Given the description of an element on the screen output the (x, y) to click on. 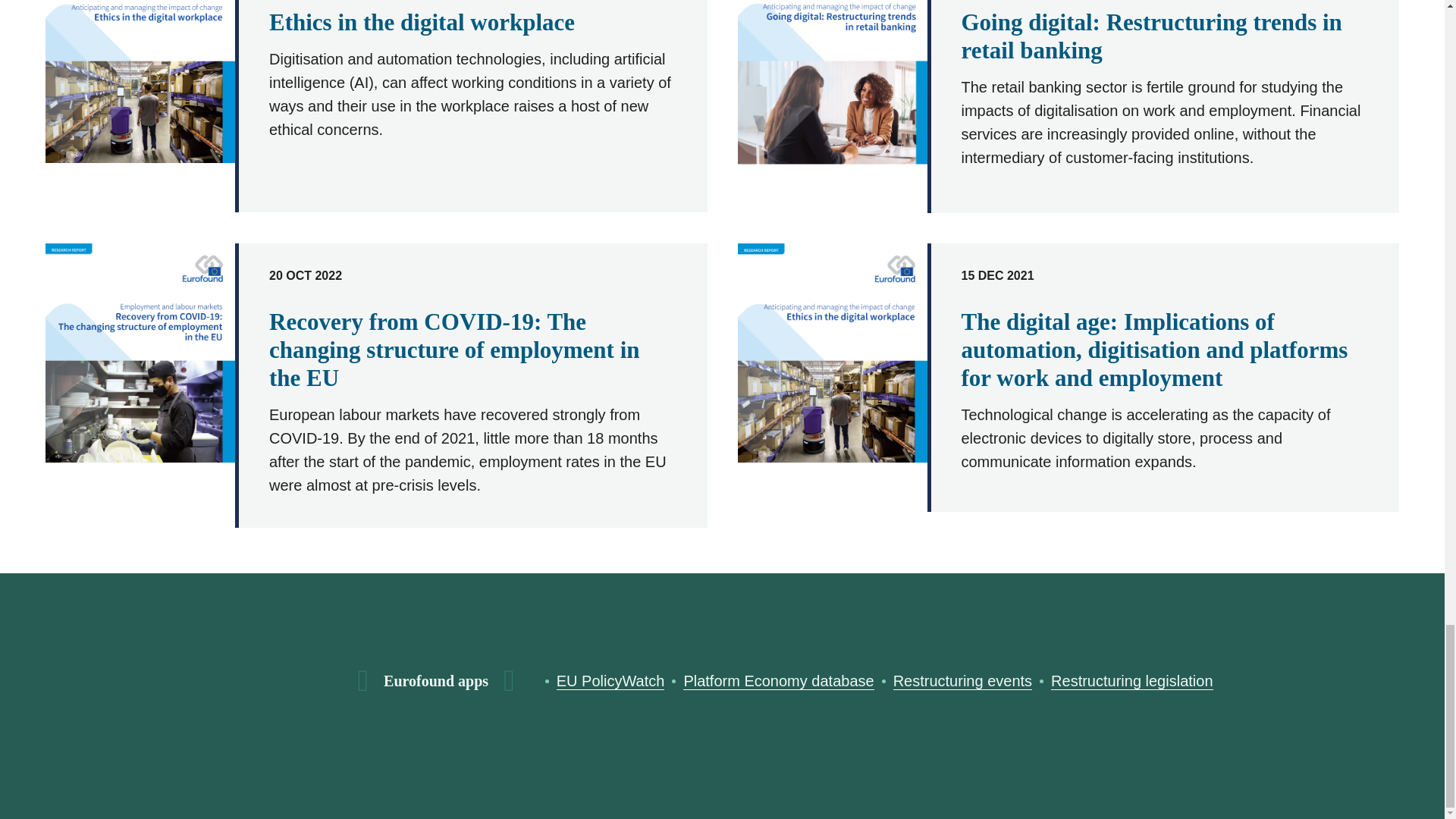
Restructuring events (962, 681)
EU PolicyWatch (610, 681)
Eurofound (286, 680)
Eurofound apps (435, 680)
Platform Economy database (777, 681)
Restructuring legislation (1131, 681)
Going digital: Restructuring trends in retail banking (1151, 36)
Ethics in the digital workplace (422, 22)
